Given the description of an element on the screen output the (x, y) to click on. 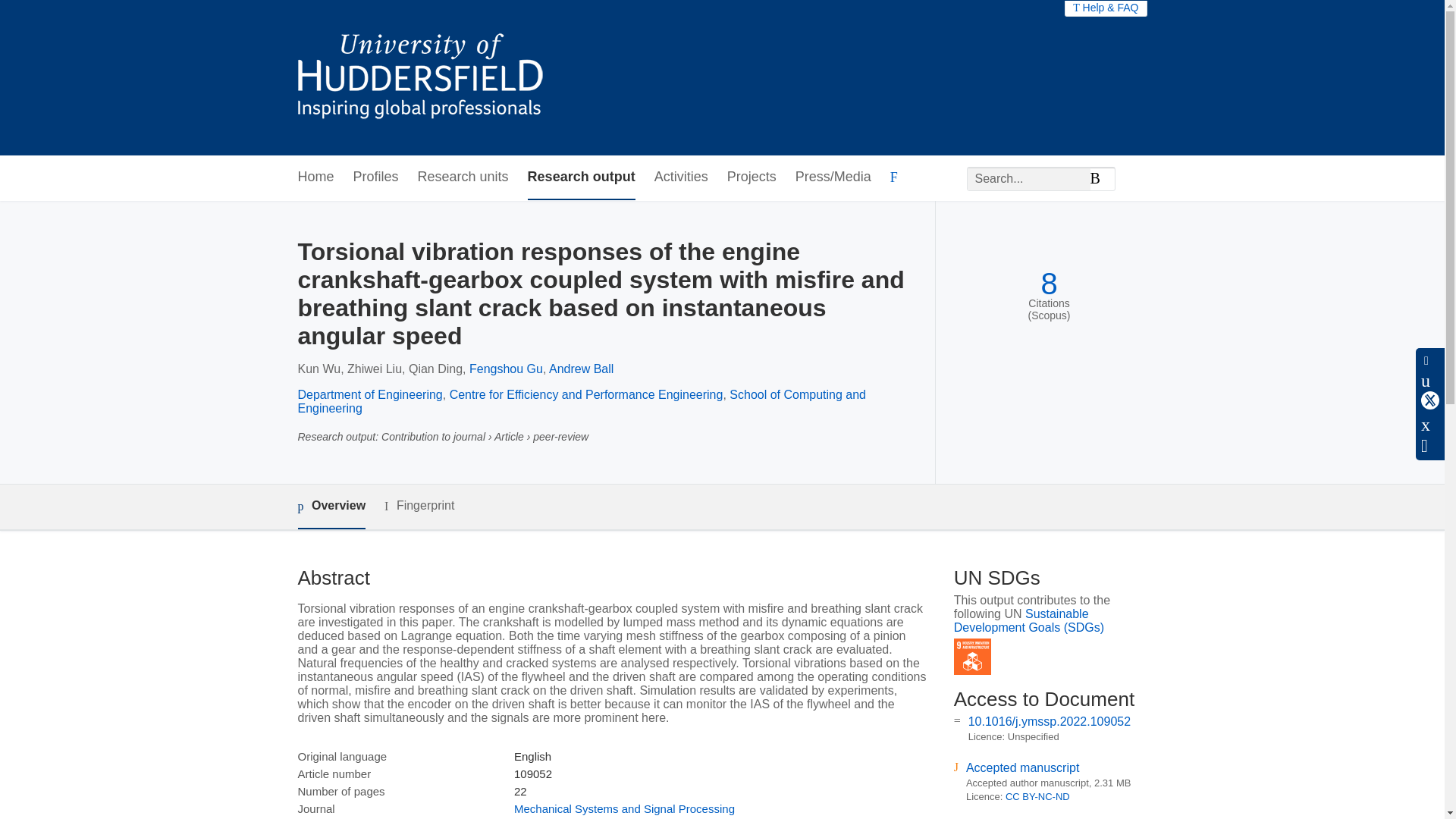
Andrew Ball (580, 368)
Activities (680, 177)
Research output (580, 177)
Projects (751, 177)
Research units (462, 177)
Profiles (375, 177)
School of Computing and Engineering (580, 401)
SDG 9 - Industry, Innovation, and Infrastructure (972, 656)
Accepted manuscript (1022, 767)
